Given the description of an element on the screen output the (x, y) to click on. 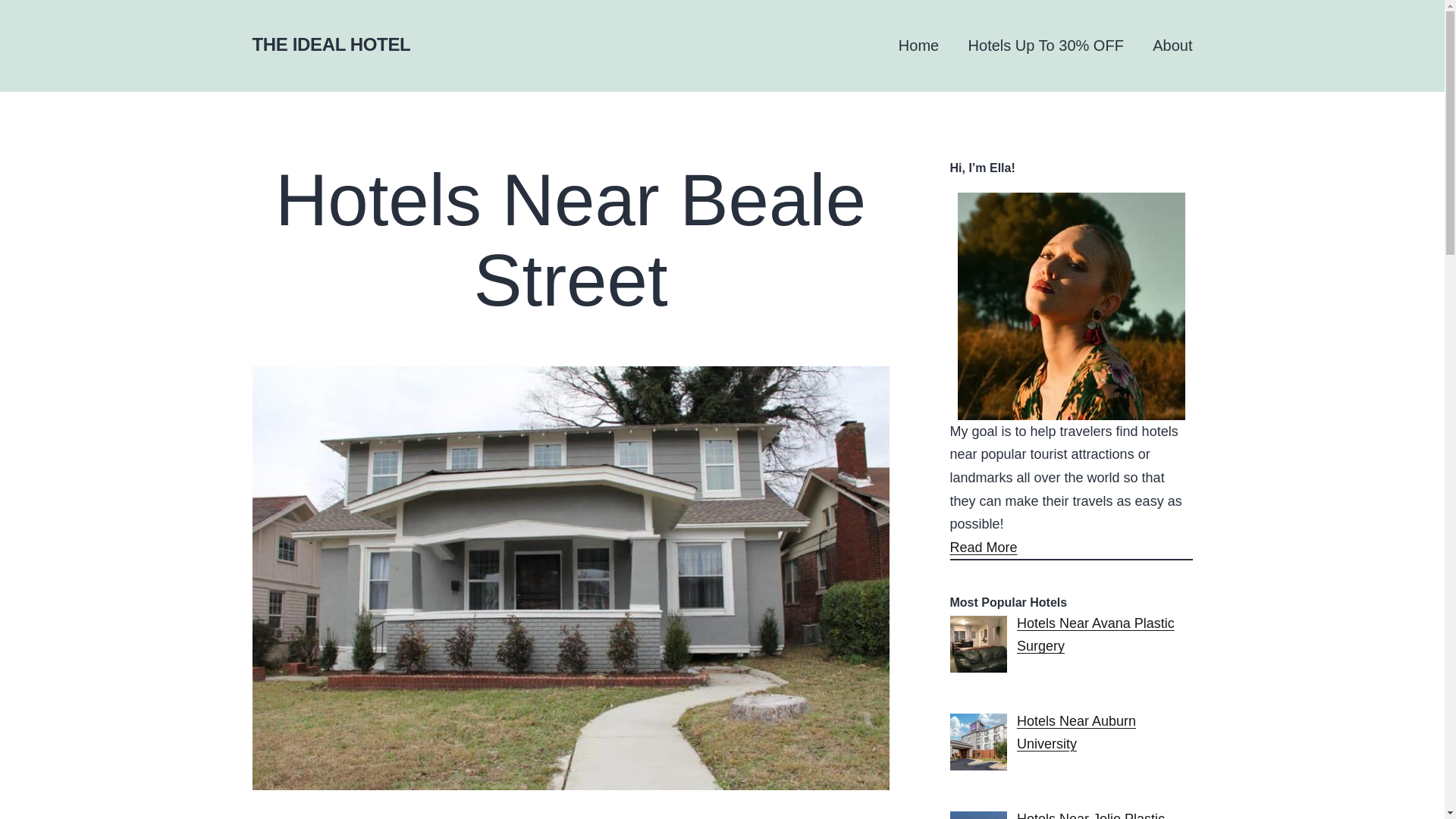
Read More (982, 547)
Hotels Near Avana Plastic Surgery (1095, 634)
Home (918, 45)
THE IDEAL HOTEL (330, 44)
About (1172, 45)
Hotels Near Jolie Plastic Surgery (1090, 815)
Hotels Near Auburn University (1075, 732)
